Given the description of an element on the screen output the (x, y) to click on. 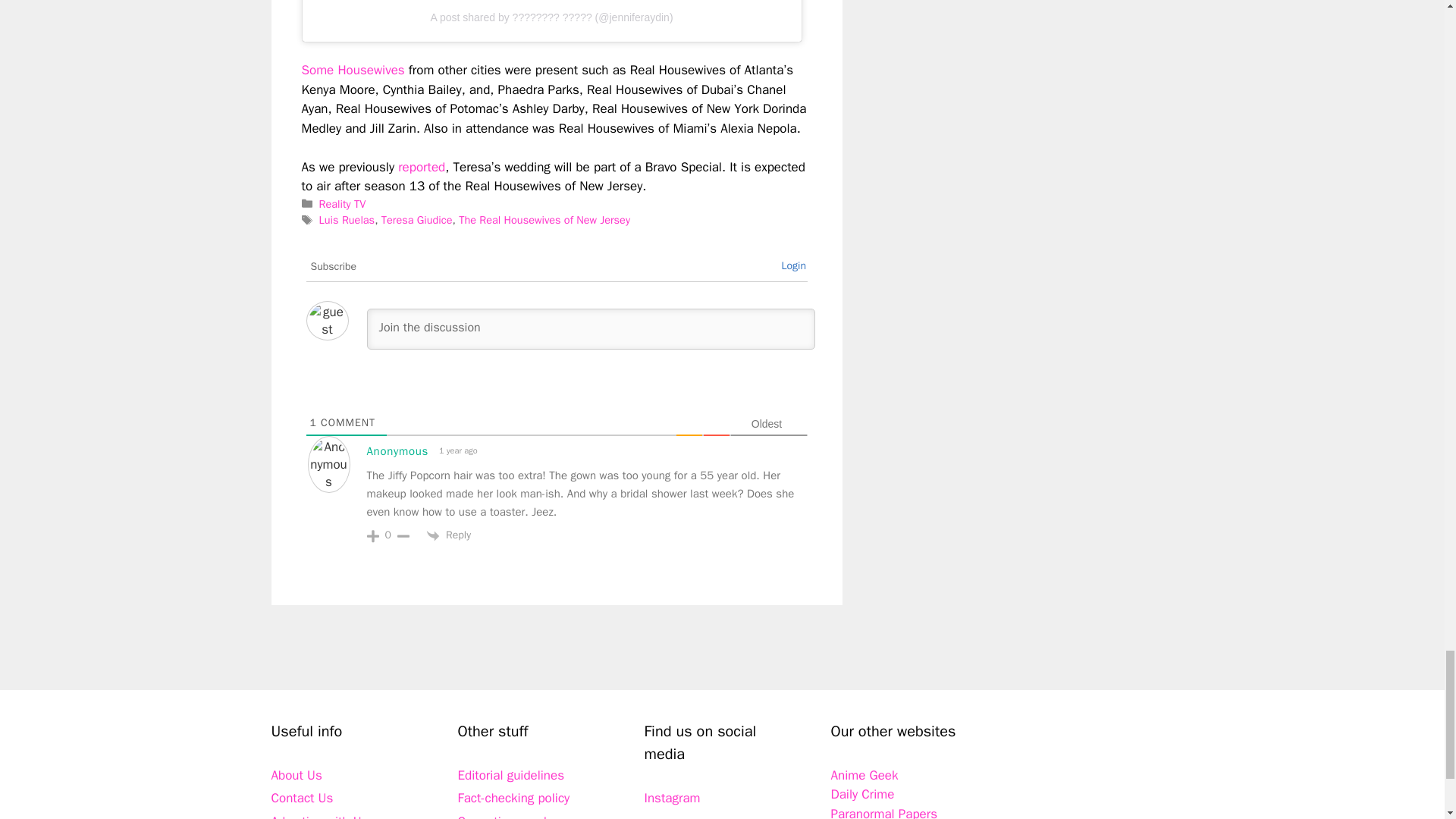
Some Housewives (352, 69)
7th August 2022 11:38 am EDT (456, 450)
Login (793, 265)
Luis Ruelas (346, 219)
0 (387, 535)
Reality TV (342, 203)
The Real Housewives of New Jersey (544, 219)
Teresa Giudice (416, 219)
reported (421, 166)
